Given the description of an element on the screen output the (x, y) to click on. 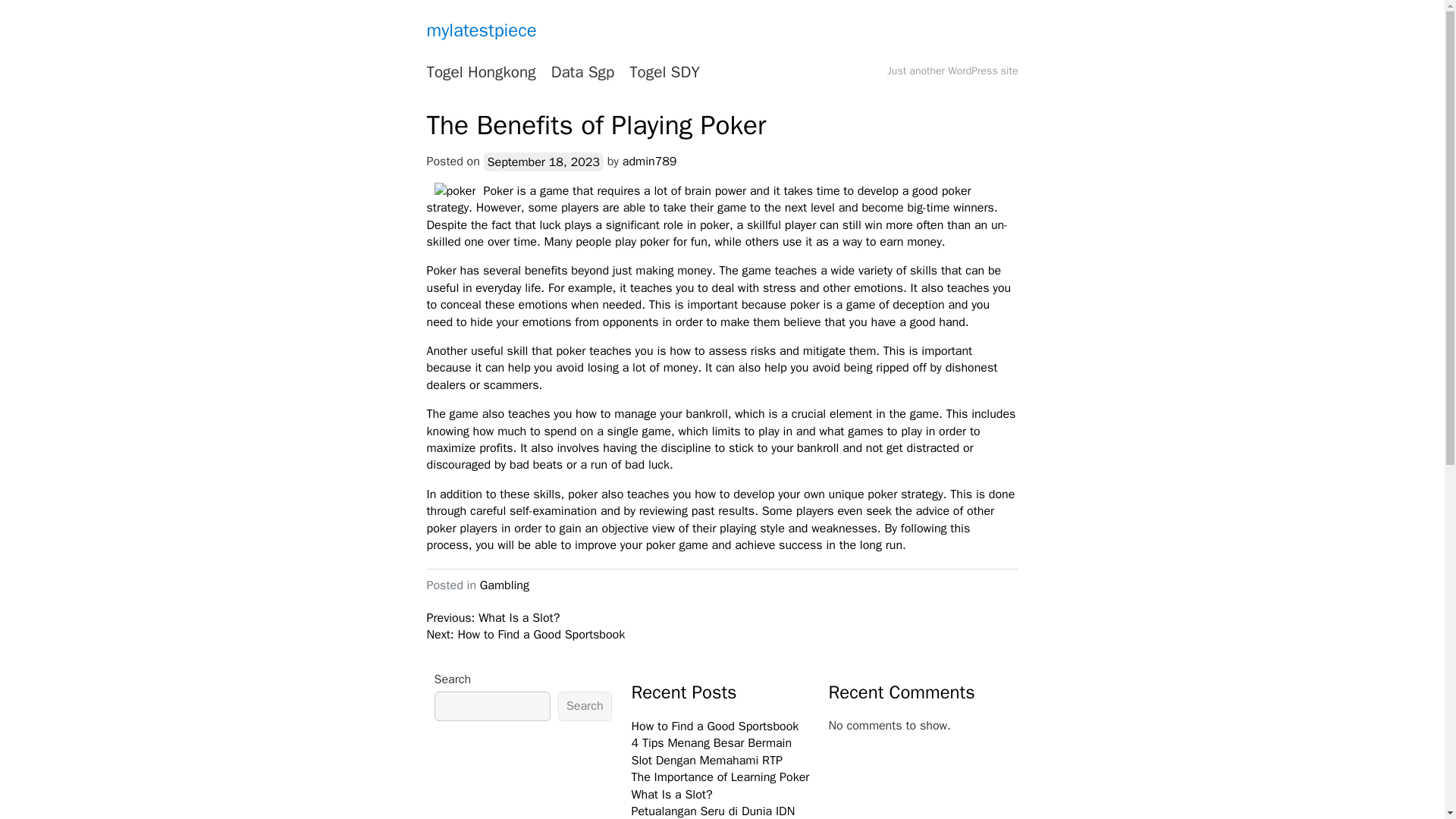
Previous: What Is a Slot? (492, 617)
Gambling (504, 585)
September 18, 2023 (543, 161)
mylatestpiece (480, 29)
Togel Hongkong (480, 73)
